Given the description of an element on the screen output the (x, y) to click on. 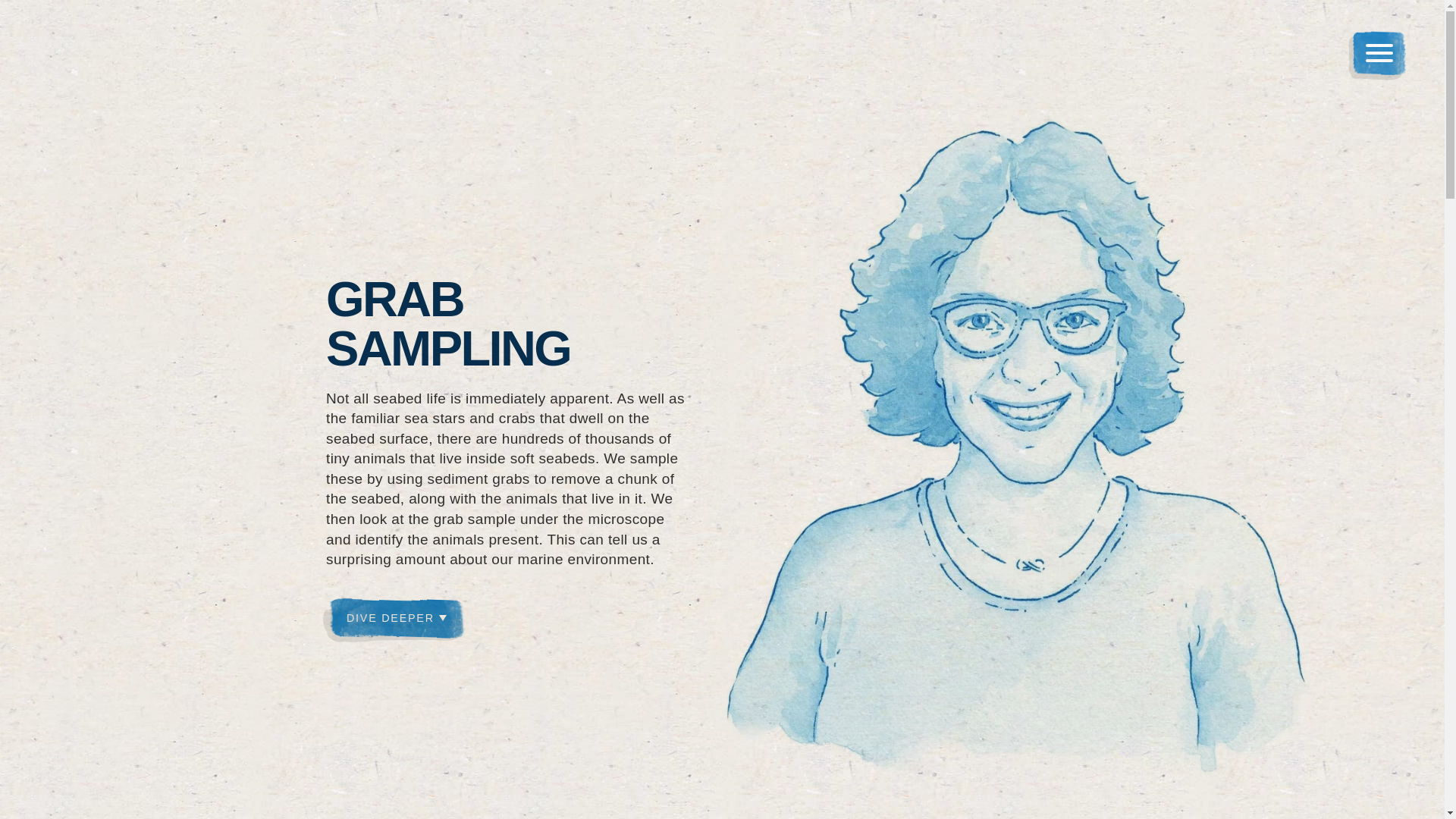
DIVE DEEPER (184, 59)
DIVE DEEPER (396, 618)
DIVE DEEPER (396, 618)
